Given the description of an element on the screen output the (x, y) to click on. 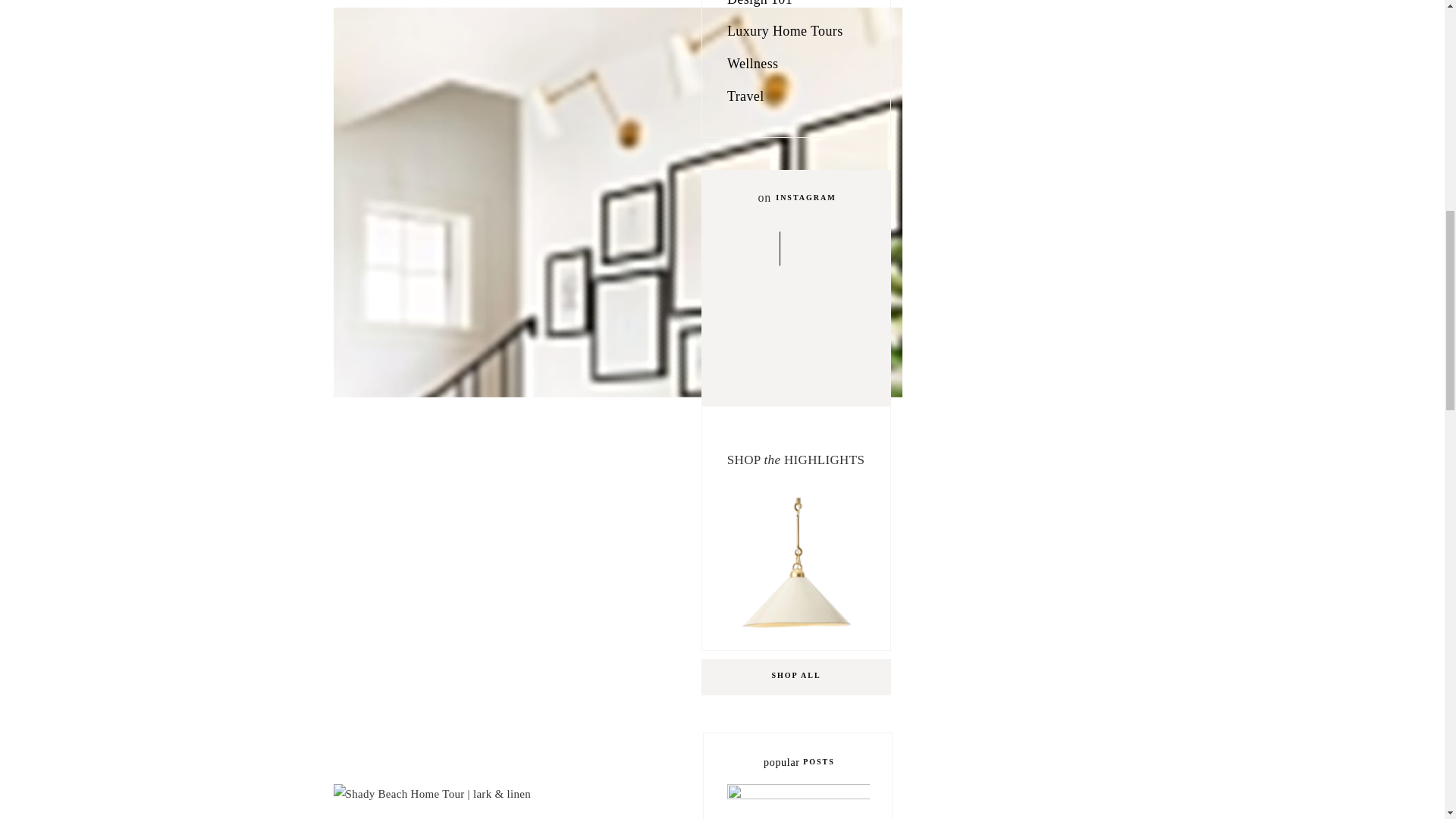
Luxury Home Tours (799, 33)
Travel (799, 99)
INSTAGRAM (805, 198)
on (761, 195)
Design 101 (788, 7)
Wellness (799, 66)
SHOP ALL (795, 676)
